Given the description of an element on the screen output the (x, y) to click on. 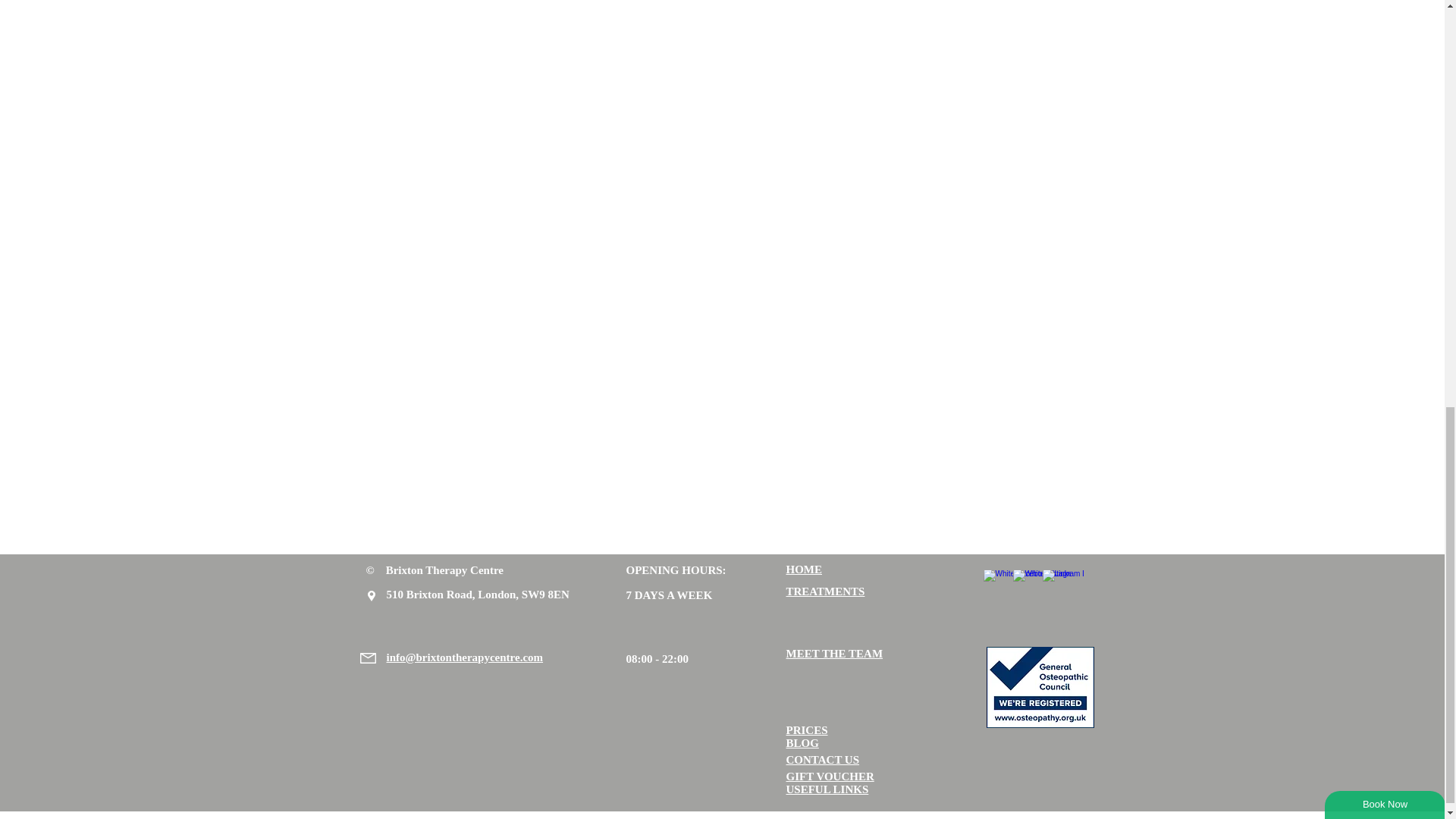
PRICES (806, 729)
MEET THE TEAM (834, 653)
HOME (804, 569)
TREATMENTS (825, 591)
